Given the description of an element on the screen output the (x, y) to click on. 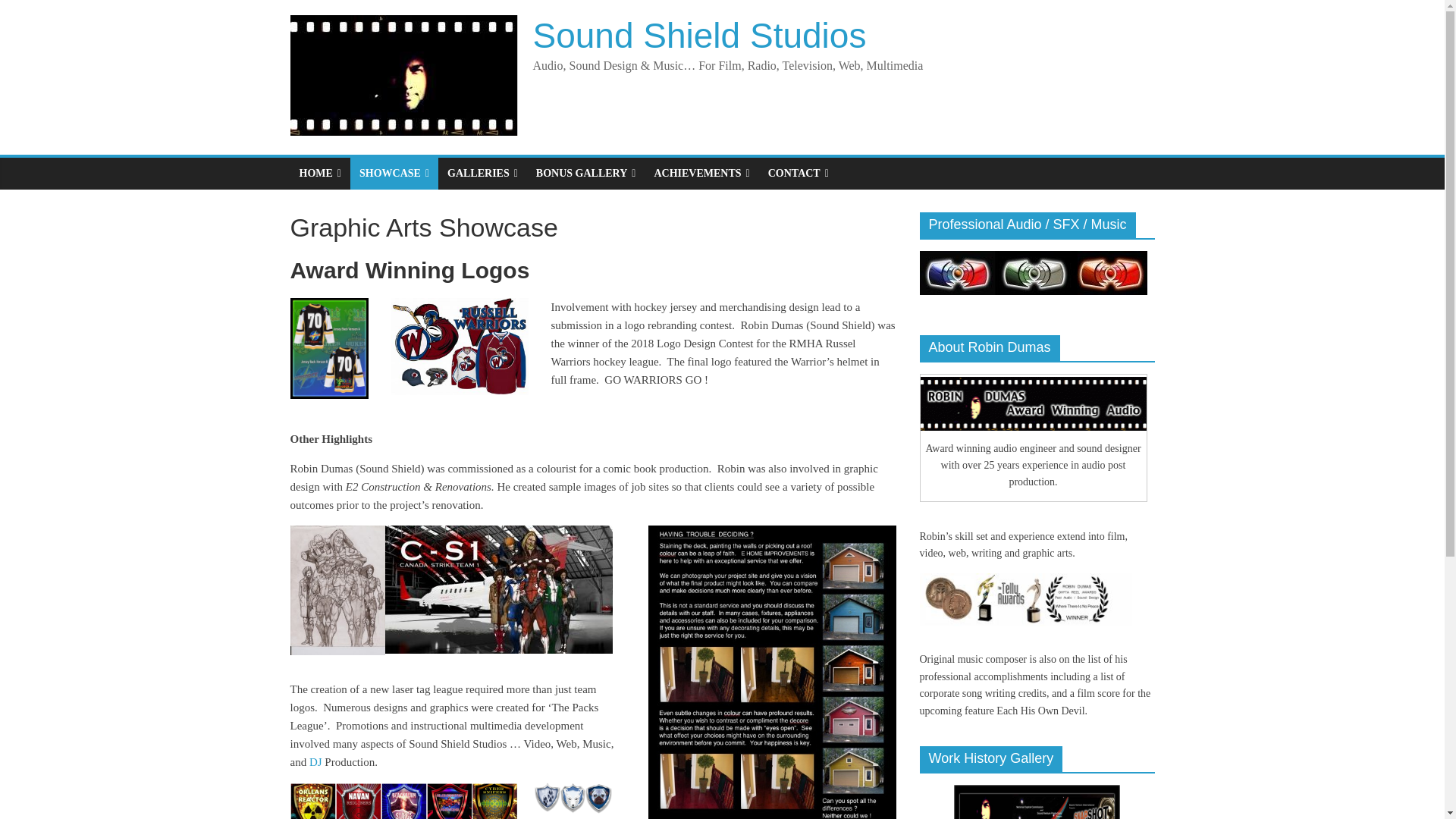
DJ (314, 761)
SHOWCASE (394, 173)
GALLERIES (482, 173)
HOME (319, 173)
CONTACT (798, 173)
BONUS GALLERY (586, 173)
ACHIEVEMENTS (701, 173)
Sound Shield Studios (699, 35)
Sound Shield Studios (699, 35)
